Given the description of an element on the screen output the (x, y) to click on. 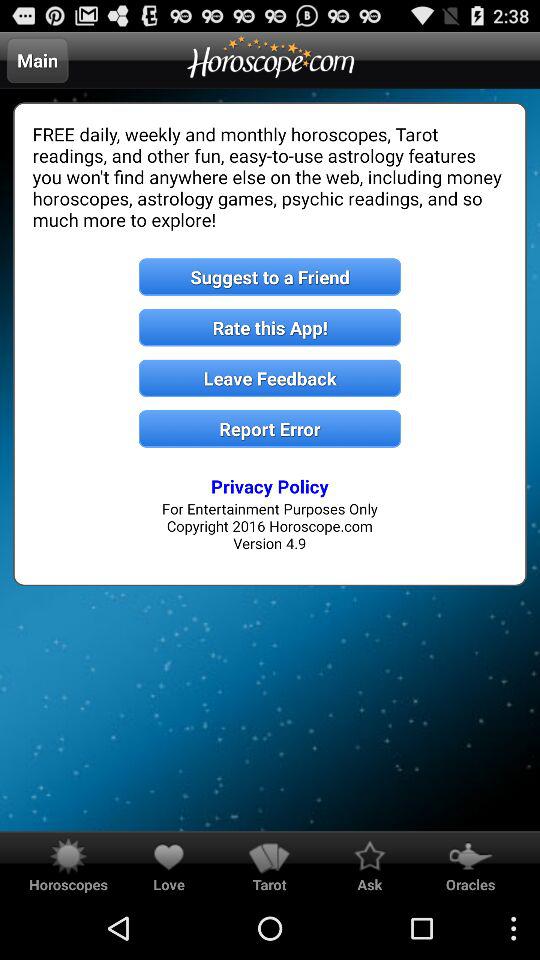
press the icon below report error (269, 486)
